Given the description of an element on the screen output the (x, y) to click on. 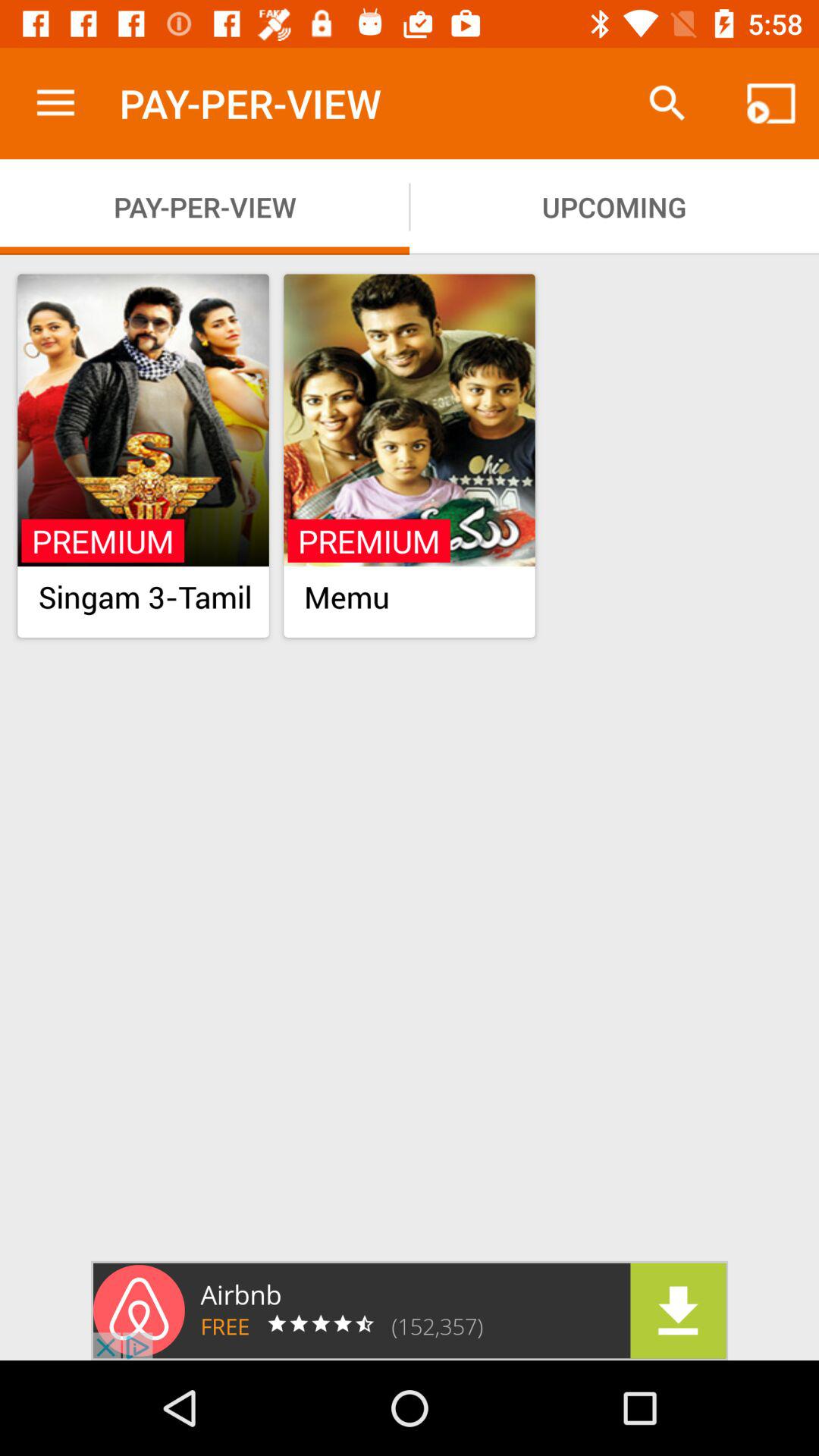
share the article (409, 1310)
